Given the description of an element on the screen output the (x, y) to click on. 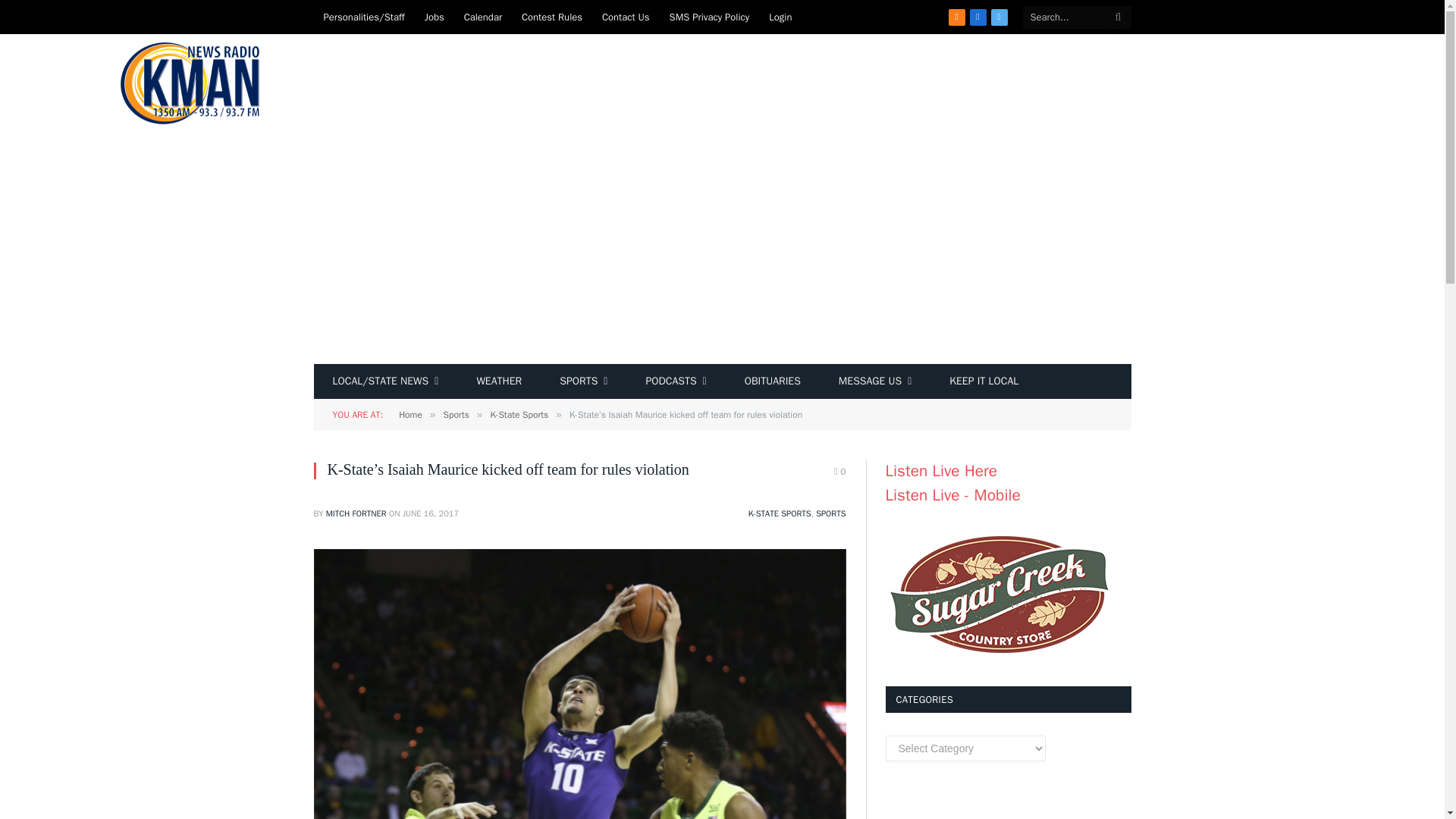
Facebook (978, 17)
Contact Us (625, 17)
Contest Rules (552, 17)
RSS (957, 17)
WEATHER (498, 380)
SPORTS (583, 380)
Login (780, 17)
SMS Privacy Policy (709, 17)
Jobs (434, 17)
